Given the description of an element on the screen output the (x, y) to click on. 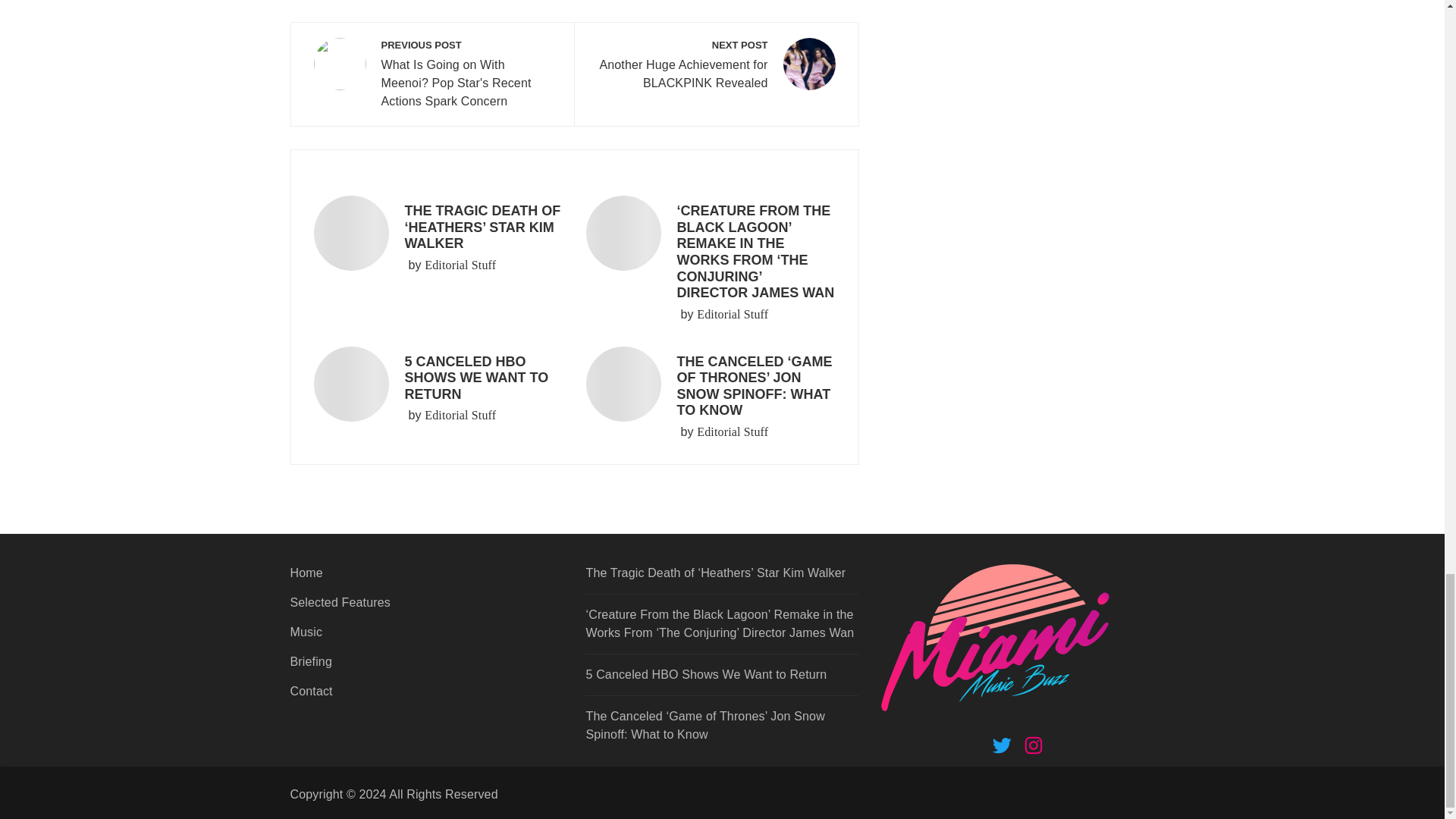
5 CANCELED HBO SHOWS WE WANT TO RETURN (476, 377)
Editorial Stuff (732, 432)
Editorial Stuff (715, 65)
Editorial Stuff (460, 415)
Editorial Stuff (732, 314)
